Given the description of an element on the screen output the (x, y) to click on. 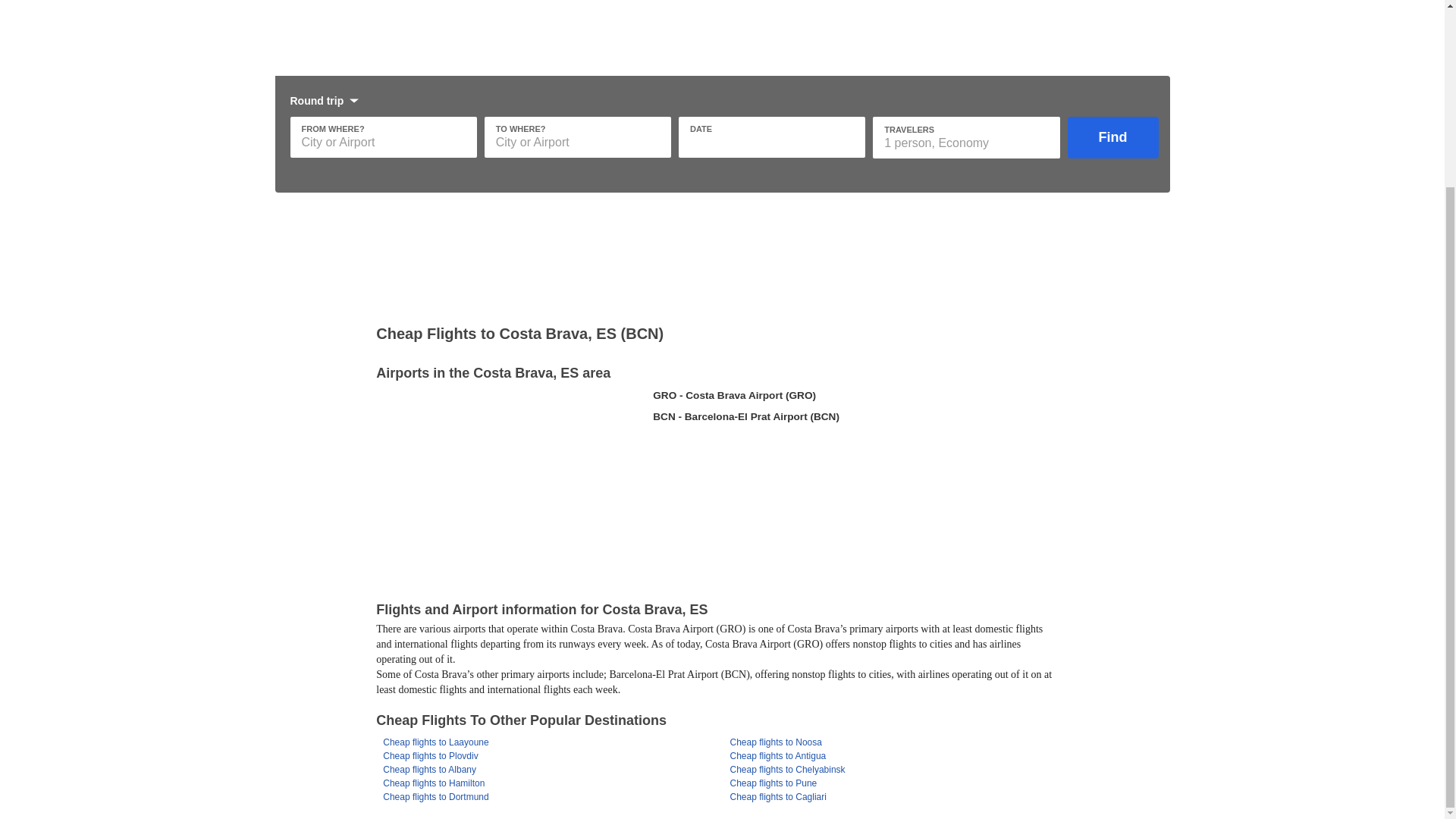
Cheap flights to Pune (772, 783)
Cheap flights to Dortmund (434, 796)
Cheap flights to Cagliari (777, 796)
Cheap flights to Antigua (777, 756)
Cheap flights to Plovdiv (429, 756)
Cheap flights to Chelyabinsk (786, 769)
Cheap flights to Albany (429, 769)
Cheap flights to Hamilton (433, 783)
Cheap flights to Laayoune (434, 742)
Find (1112, 137)
Cheap flights to Noosa (775, 742)
